Given the description of an element on the screen output the (x, y) to click on. 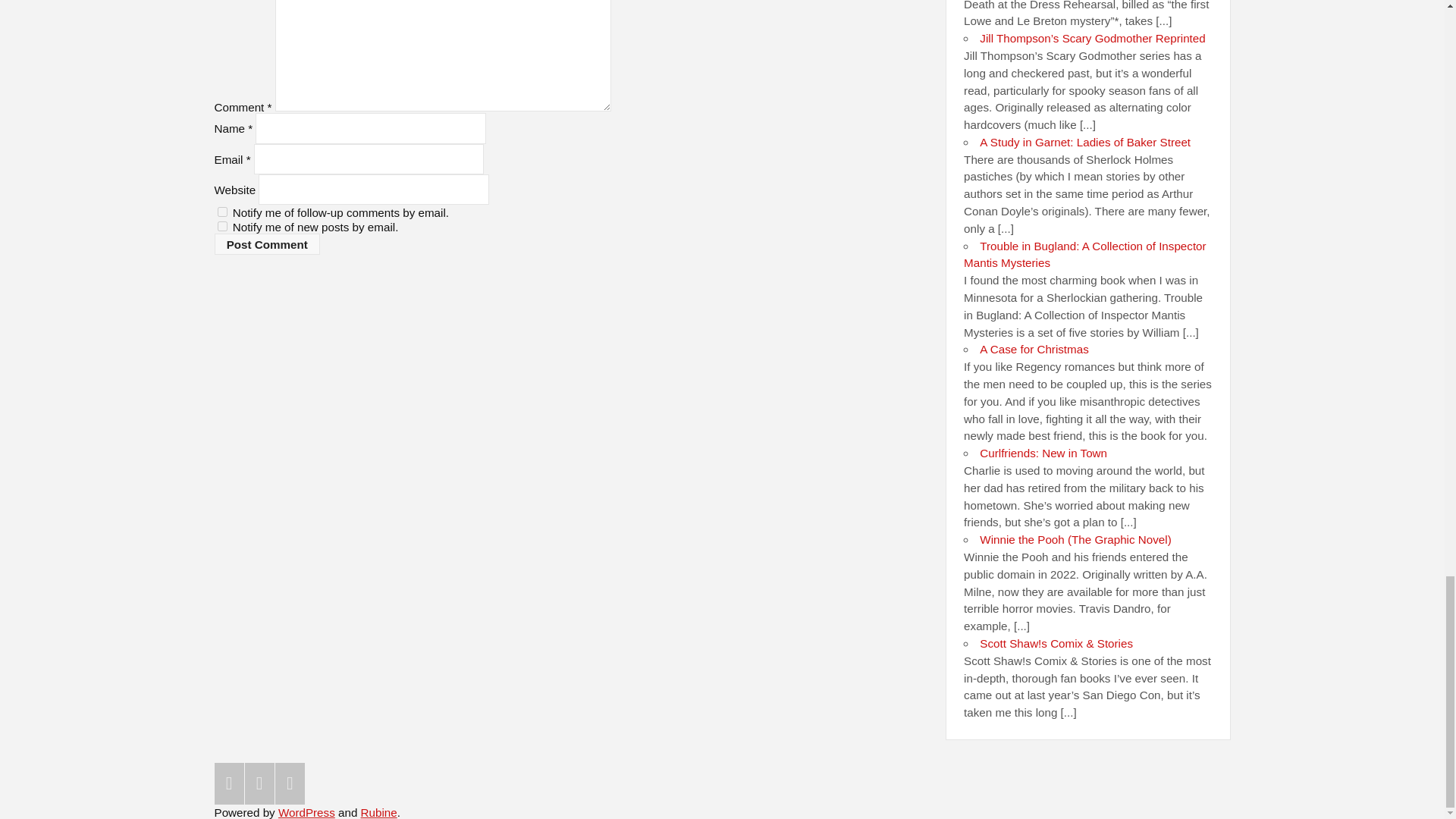
Post Comment (267, 243)
Post Comment (267, 243)
subscribe (221, 212)
subscribe (221, 225)
